Given the description of an element on the screen output the (x, y) to click on. 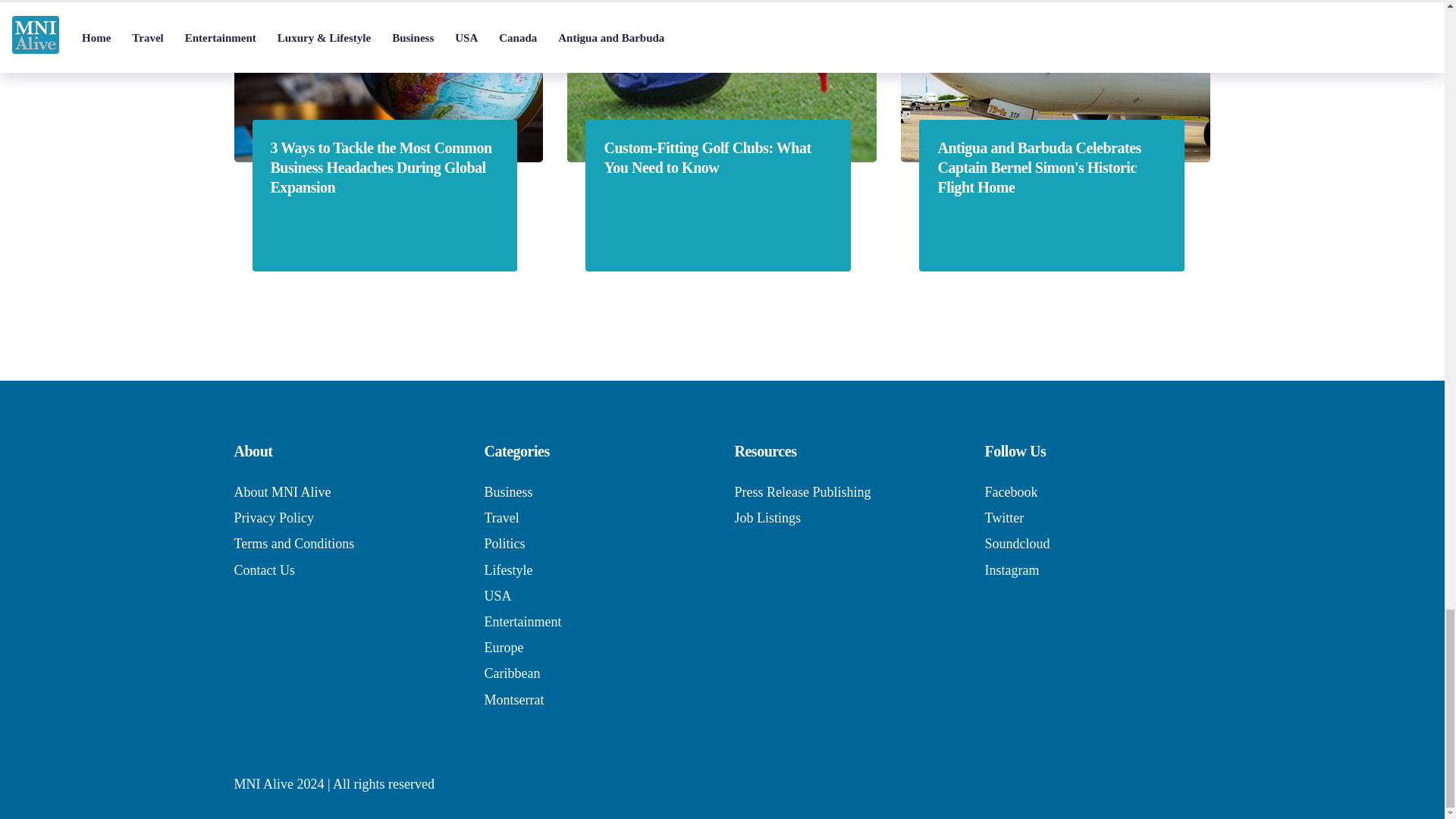
Custom-Fitting Golf Clubs: What You Need to Know (717, 157)
Job Listings (766, 517)
Terms and Conditions (292, 543)
Caribbean (511, 672)
Contact Us (263, 570)
Politics (503, 543)
About MNI Alive (281, 491)
USA (497, 595)
